Given the description of an element on the screen output the (x, y) to click on. 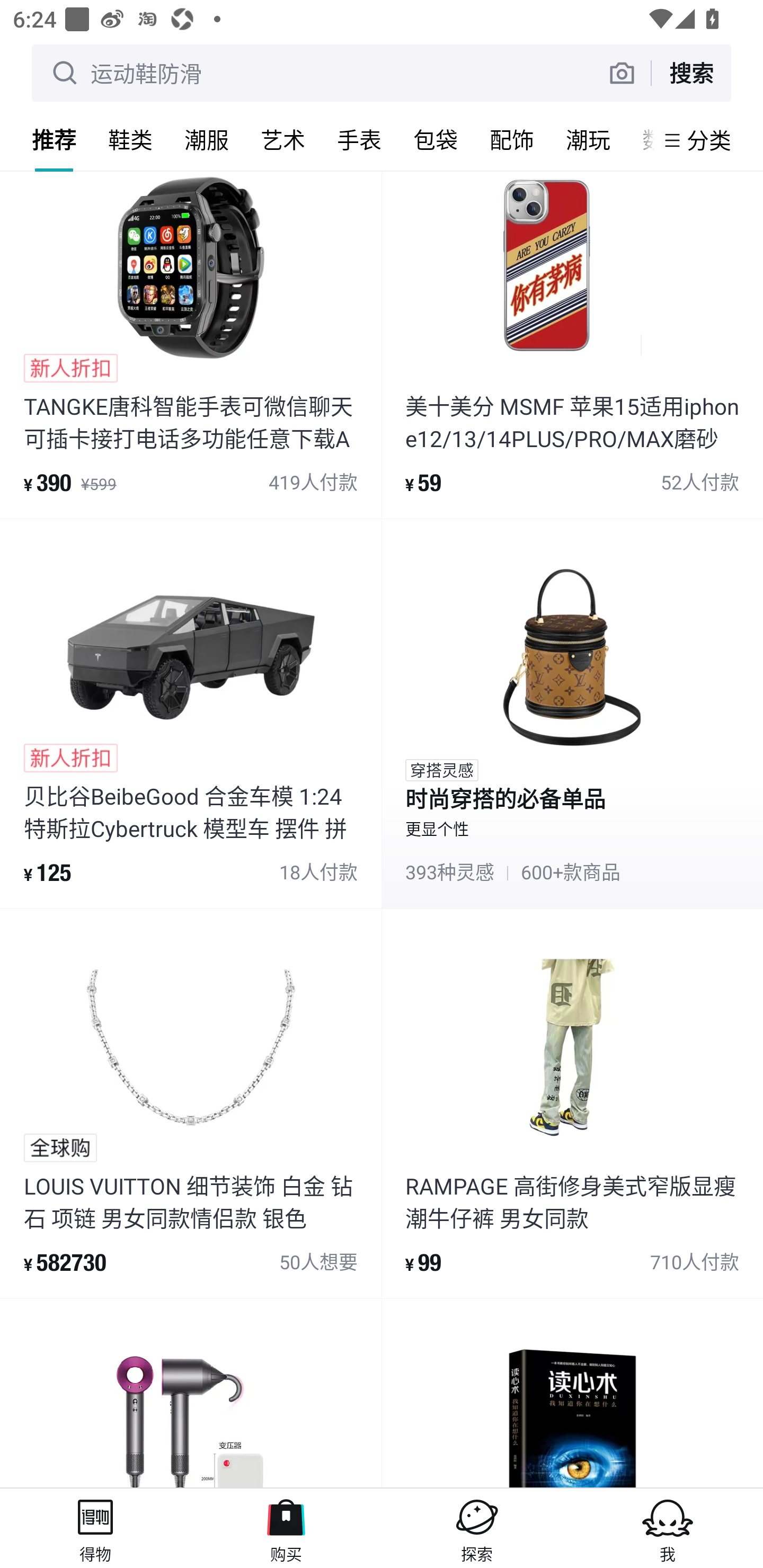
运动鞋防滑 搜索 (381, 72)
搜索 (690, 72)
推荐 (54, 139)
鞋类 (130, 139)
潮服 (206, 139)
艺术 (282, 139)
手表 (359, 139)
包袋 (435, 139)
配饰 (511, 139)
潮玩 (588, 139)
分类 (708, 139)
穿搭灵感 时尚穿搭的必备单品 更显个性 393种灵感 # 600+款商品 (572, 713)
product_item (572, 1393)
得物 (95, 1528)
购买 (285, 1528)
探索 (476, 1528)
我 (667, 1528)
